Given the description of an element on the screen output the (x, y) to click on. 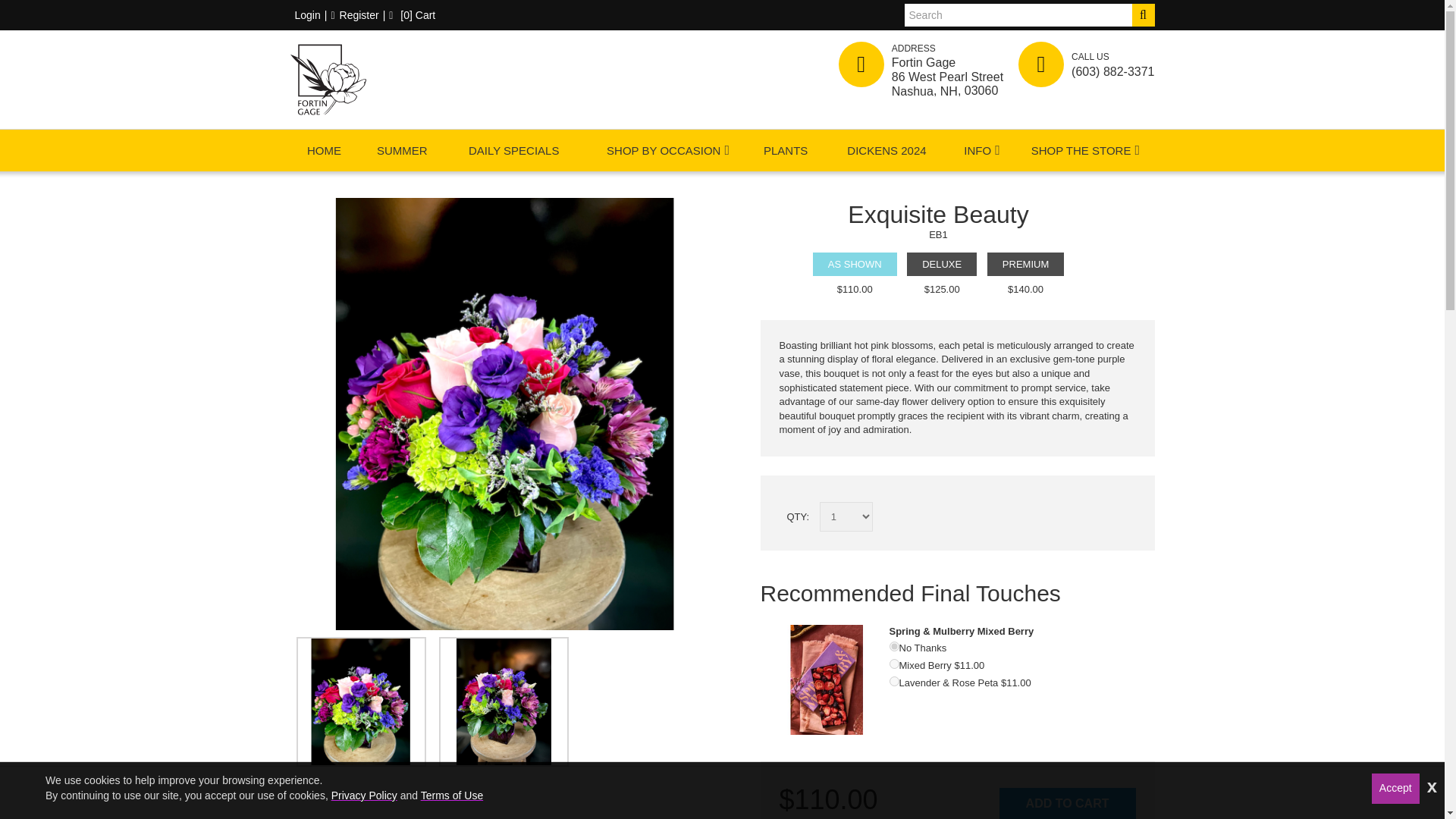
Register (354, 15)
SHOP BY OCCASION (662, 150)
Login (304, 15)
1 (893, 664)
SHOP THE STORE (1080, 150)
INFO (977, 150)
HOME (323, 150)
3 (893, 681)
PLANTS (785, 150)
0 (893, 646)
DICKENS 2024 (886, 150)
SUMMER (401, 150)
DAILY SPECIALS (512, 150)
